Given the description of an element on the screen output the (x, y) to click on. 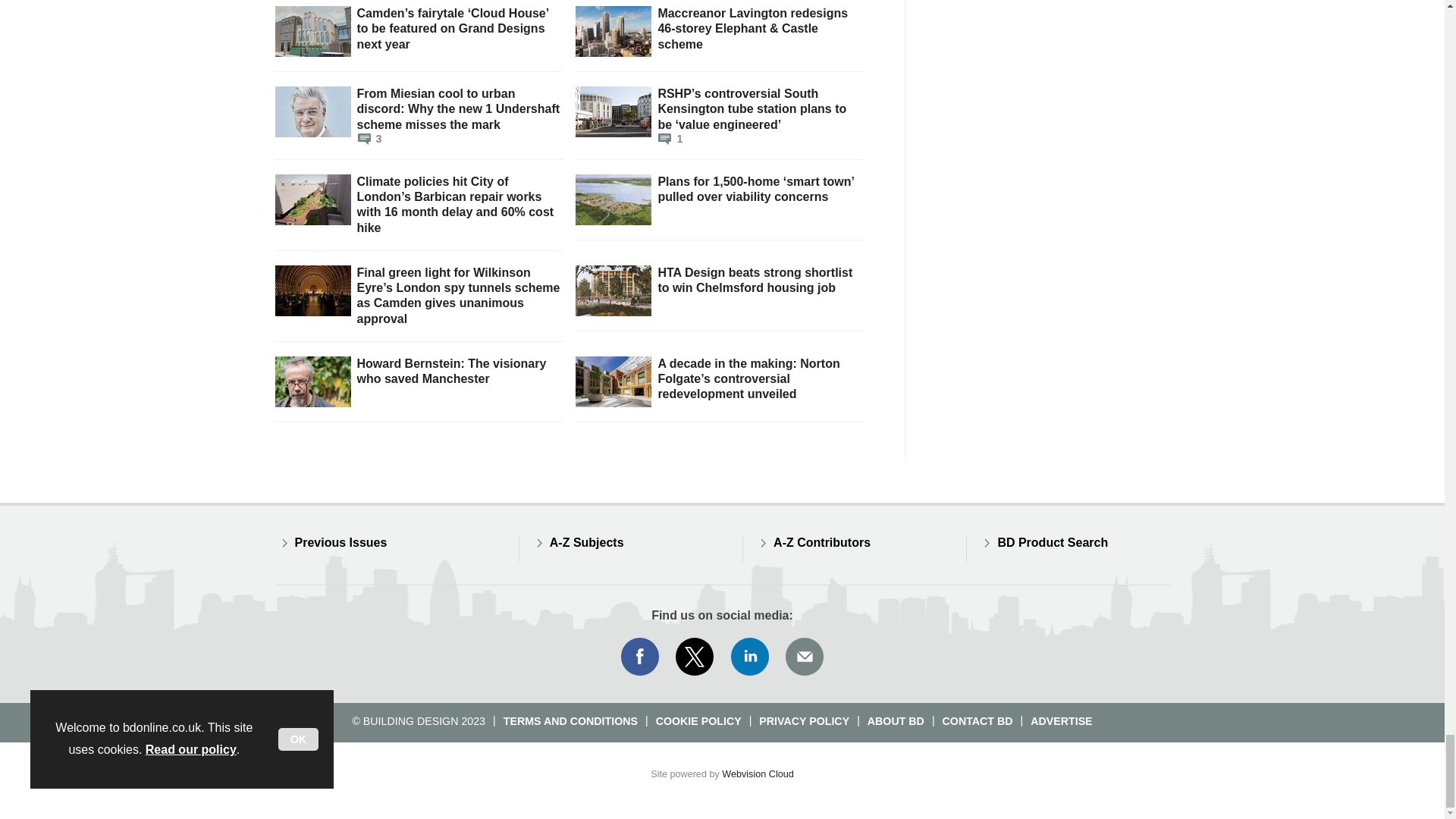
Connect with us on Twitter (694, 656)
Connect with us on Linked in (750, 656)
Connect with us on Facebook (639, 656)
Email us (804, 656)
